Given the description of an element on the screen output the (x, y) to click on. 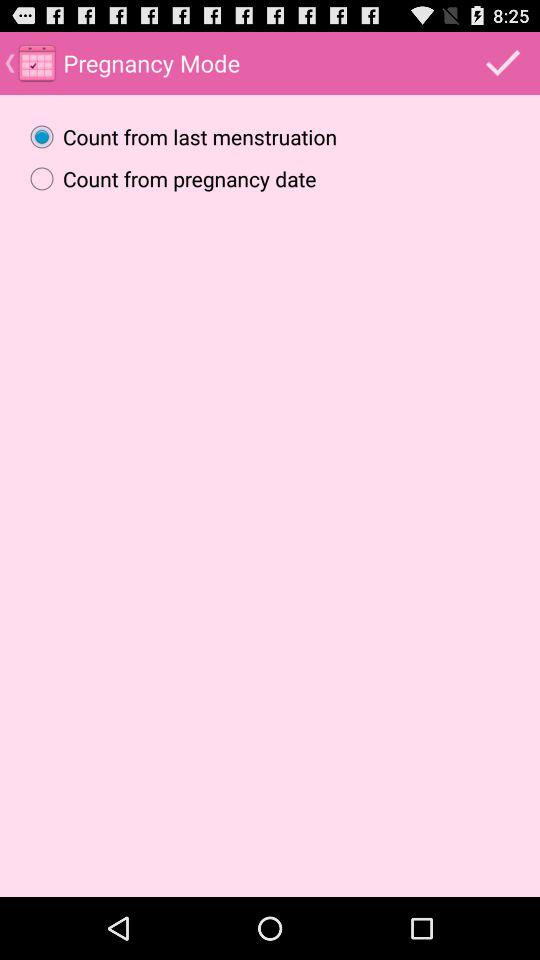
select the option (503, 62)
